Given the description of an element on the screen output the (x, y) to click on. 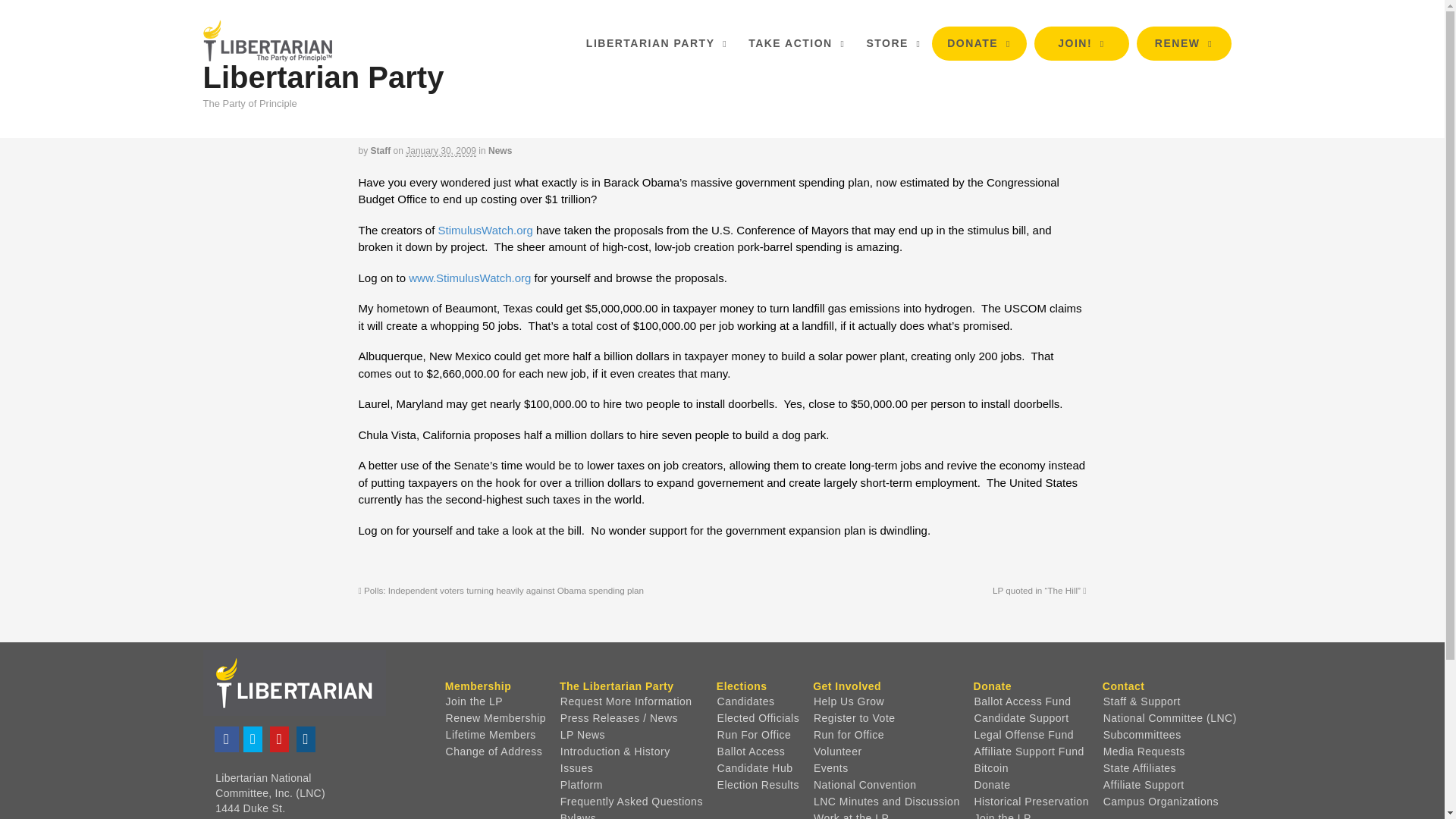
TAKE ACTION (797, 43)
View all items in News (499, 150)
LIBERTARIAN PARTY (656, 43)
DONATE (978, 43)
Libertarian Party (323, 77)
The Party of Principle (267, 53)
STORE (893, 43)
2009-01-30T19:30:12-0500 (441, 151)
Posts by Staff (381, 150)
